Given the description of an element on the screen output the (x, y) to click on. 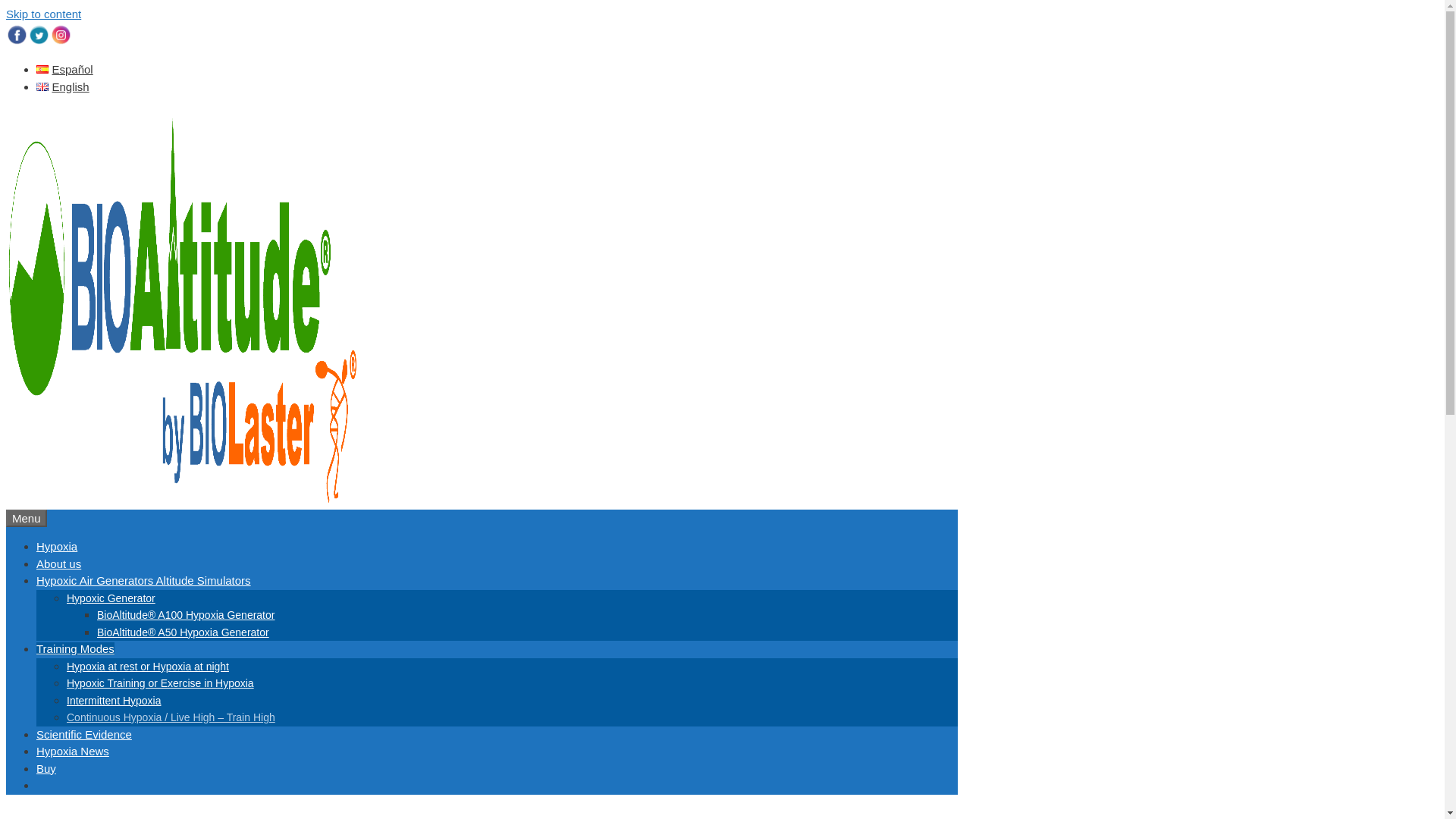
English (62, 86)
Buy (46, 767)
Menu (25, 518)
About us (58, 562)
Hypoxic Generator (110, 597)
Intermittent Hypoxia (113, 700)
Hypoxia at rest or Hypoxia at night (147, 665)
Training Modes (75, 648)
Scientific Evidence (84, 734)
Skip to content (43, 13)
